Given the description of an element on the screen output the (x, y) to click on. 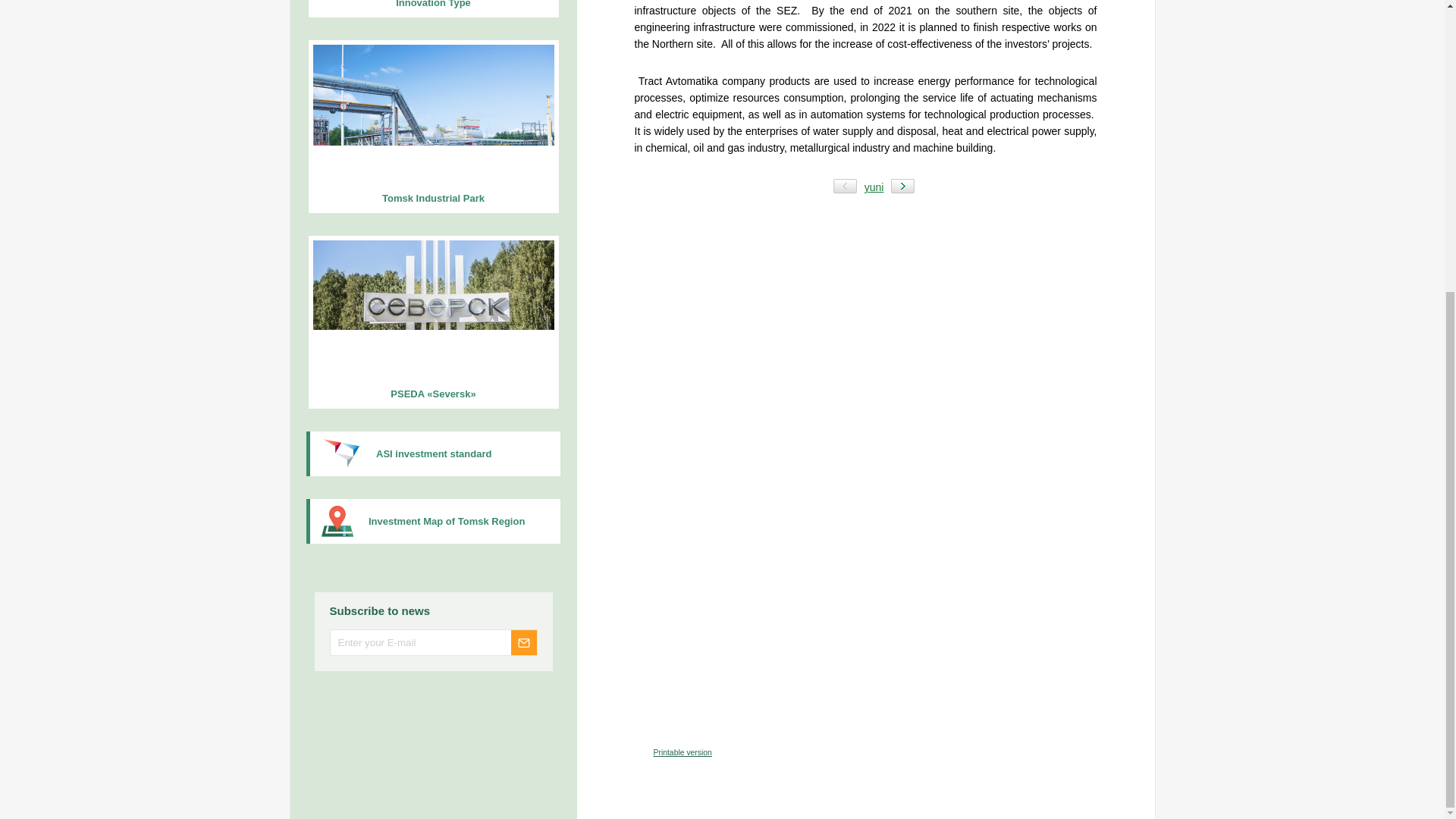
Investment Map of Tomsk Region (432, 520)
Tomsk Industrial Park (432, 126)
ASI investment standard (432, 453)
Tomsk Special Economic Zone of Technical Innovation Type (432, 8)
